Given the description of an element on the screen output the (x, y) to click on. 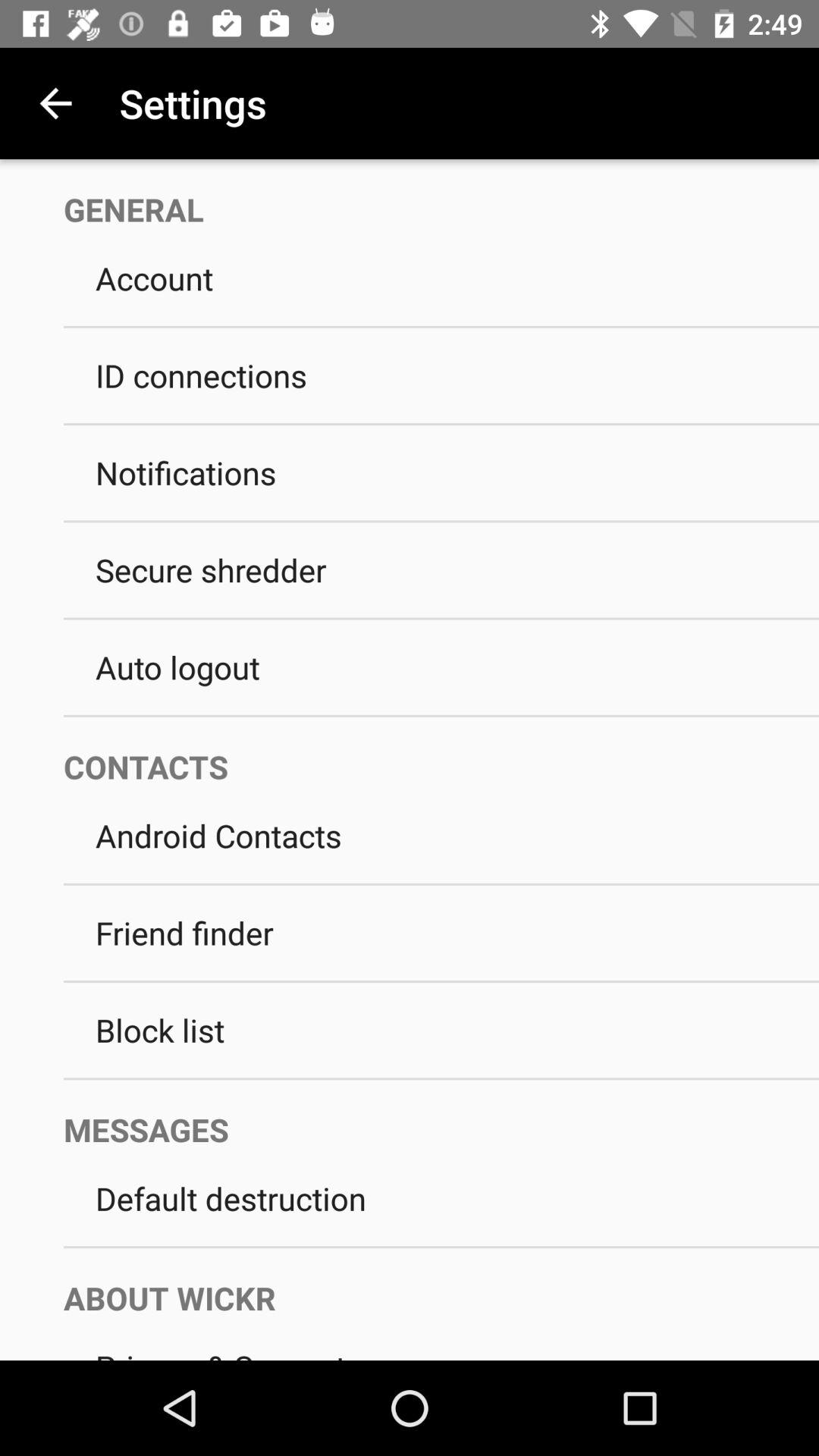
click the item above privacy & support (425, 1283)
